Given the description of an element on the screen output the (x, y) to click on. 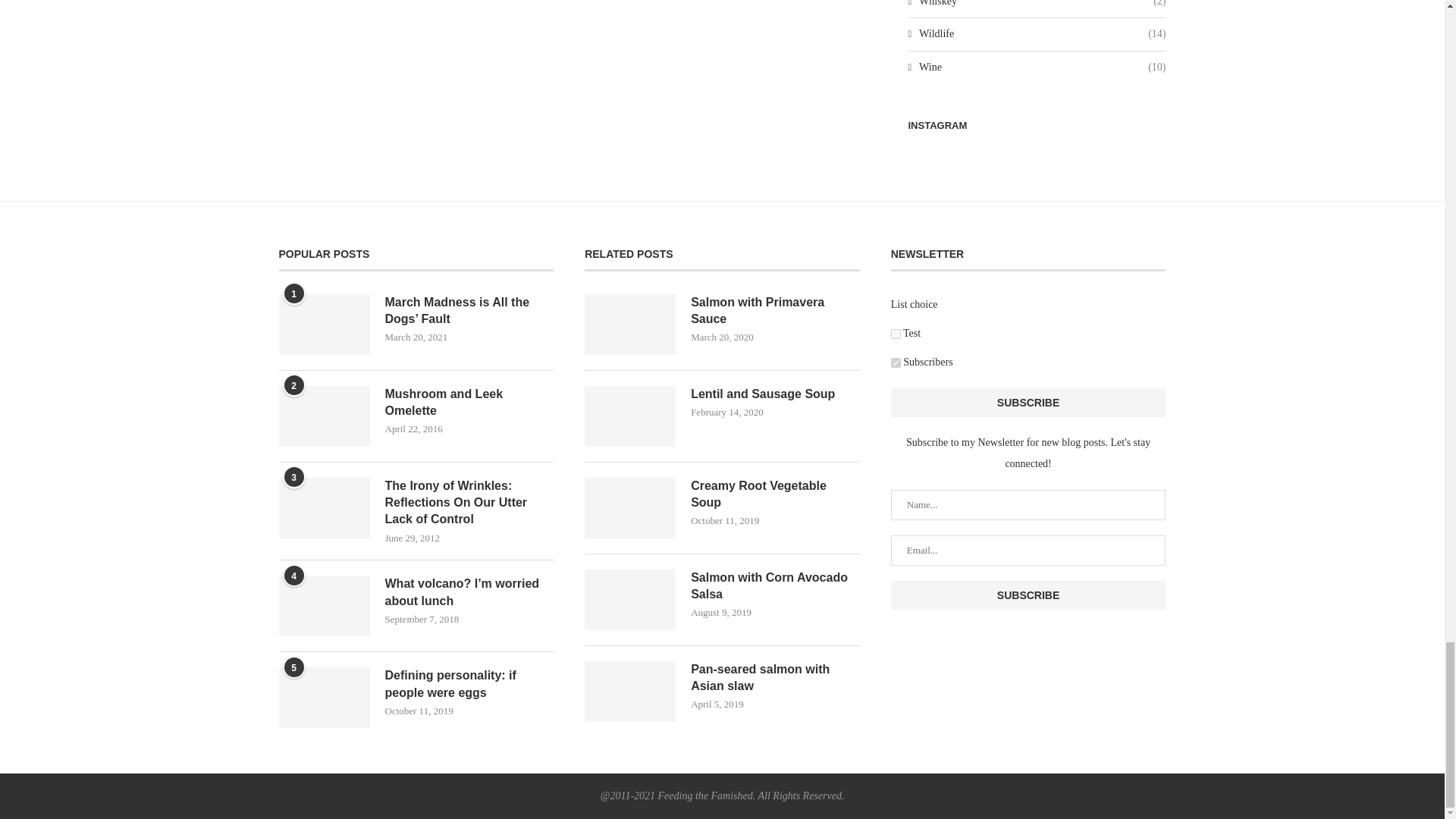
6b02a2f8e2 (896, 334)
Subscribe (1028, 594)
7cd0e5dff5 (896, 362)
Subscribe (1028, 402)
